Given the description of an element on the screen output the (x, y) to click on. 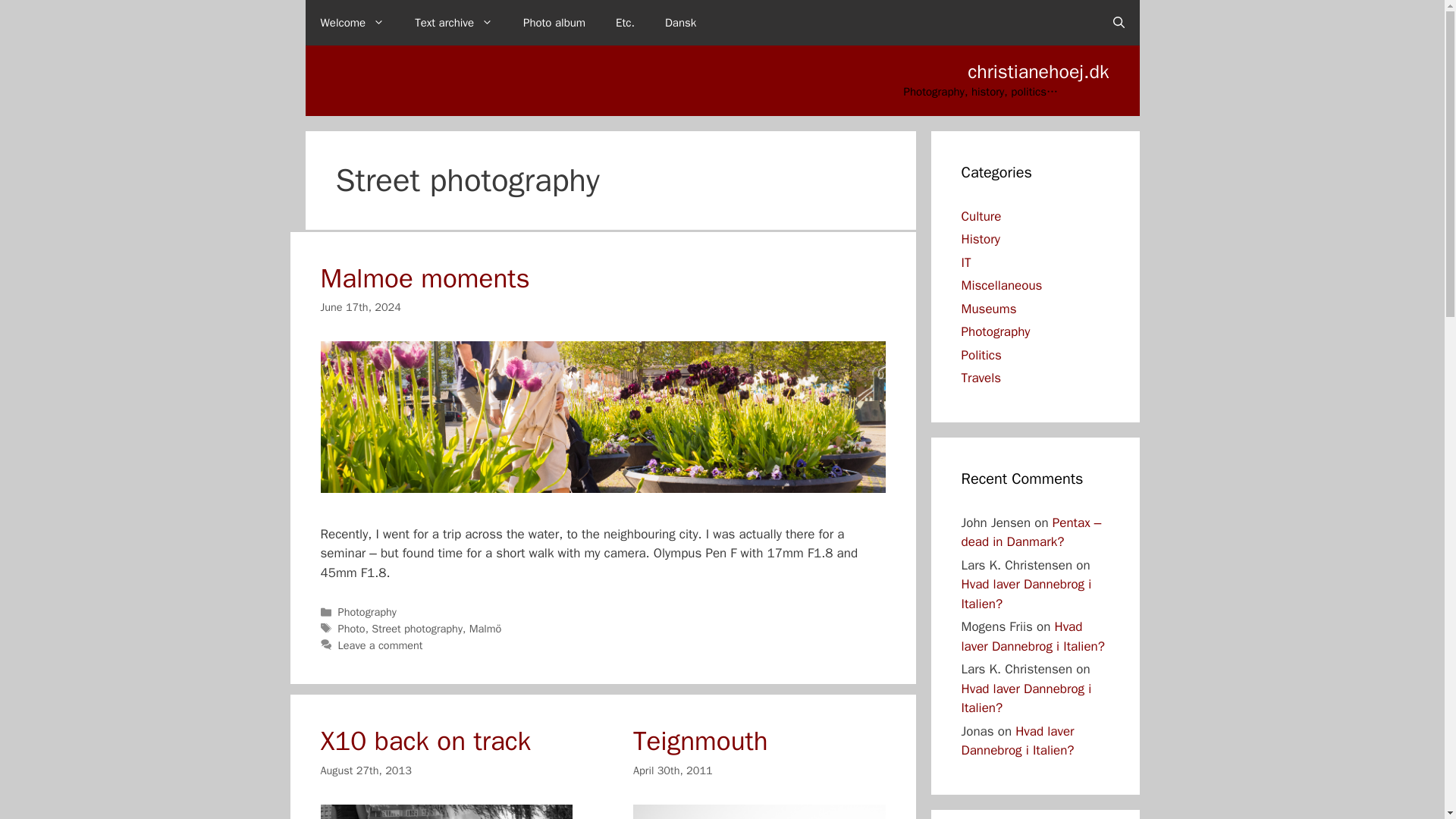
Etc. (624, 22)
Teignmouth (700, 740)
Leave a comment (380, 644)
Dansk (680, 22)
Text archive (453, 22)
christianehoej.dk (1038, 71)
Welcome (351, 22)
Photography (366, 612)
Photo (351, 628)
Dansk (680, 22)
X10 back on track (425, 740)
Photo album (553, 22)
Street photography (417, 628)
Malmoe moments (424, 277)
